Given the description of an element on the screen output the (x, y) to click on. 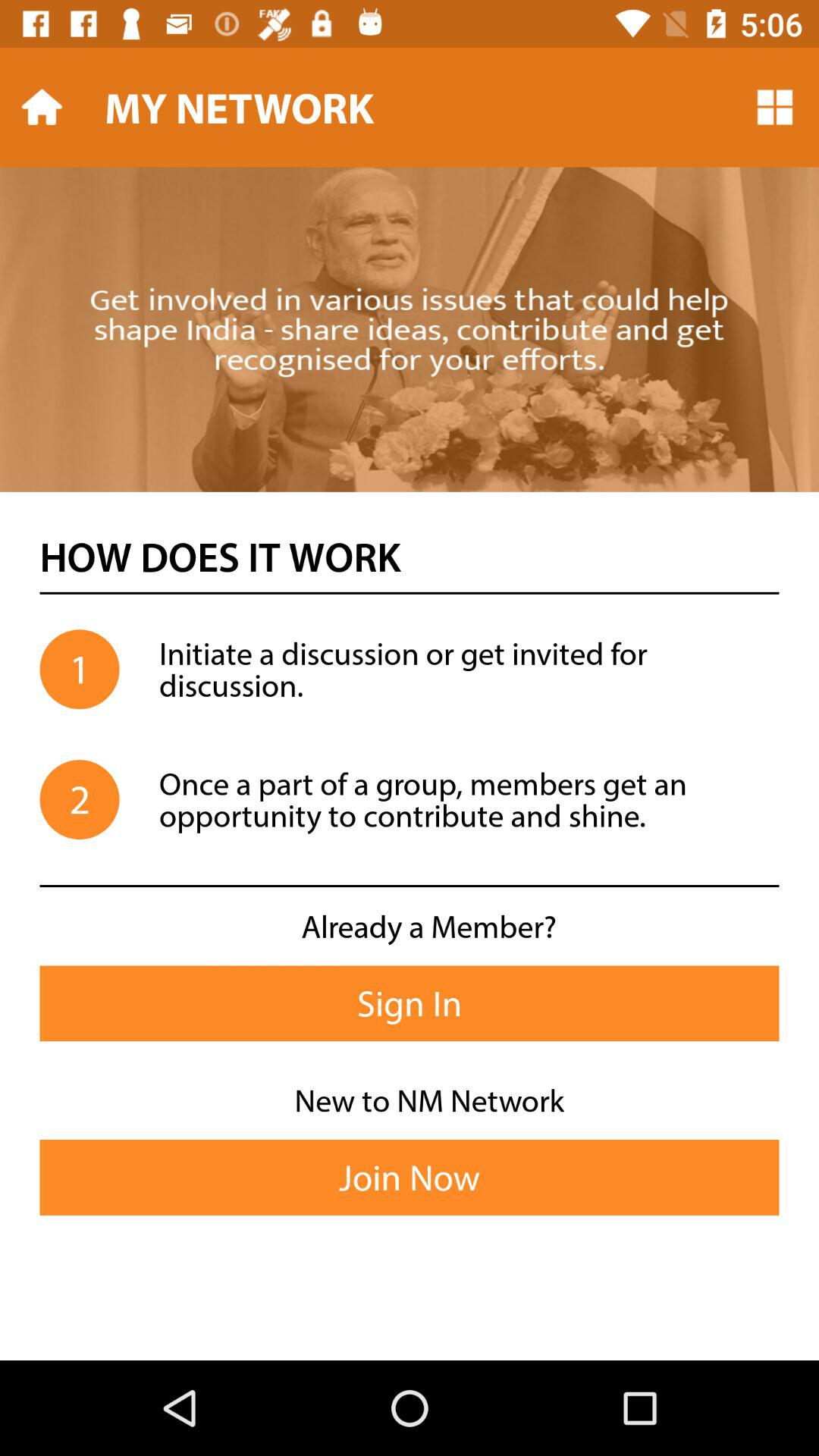
select join now (409, 1177)
